Given the description of an element on the screen output the (x, y) to click on. 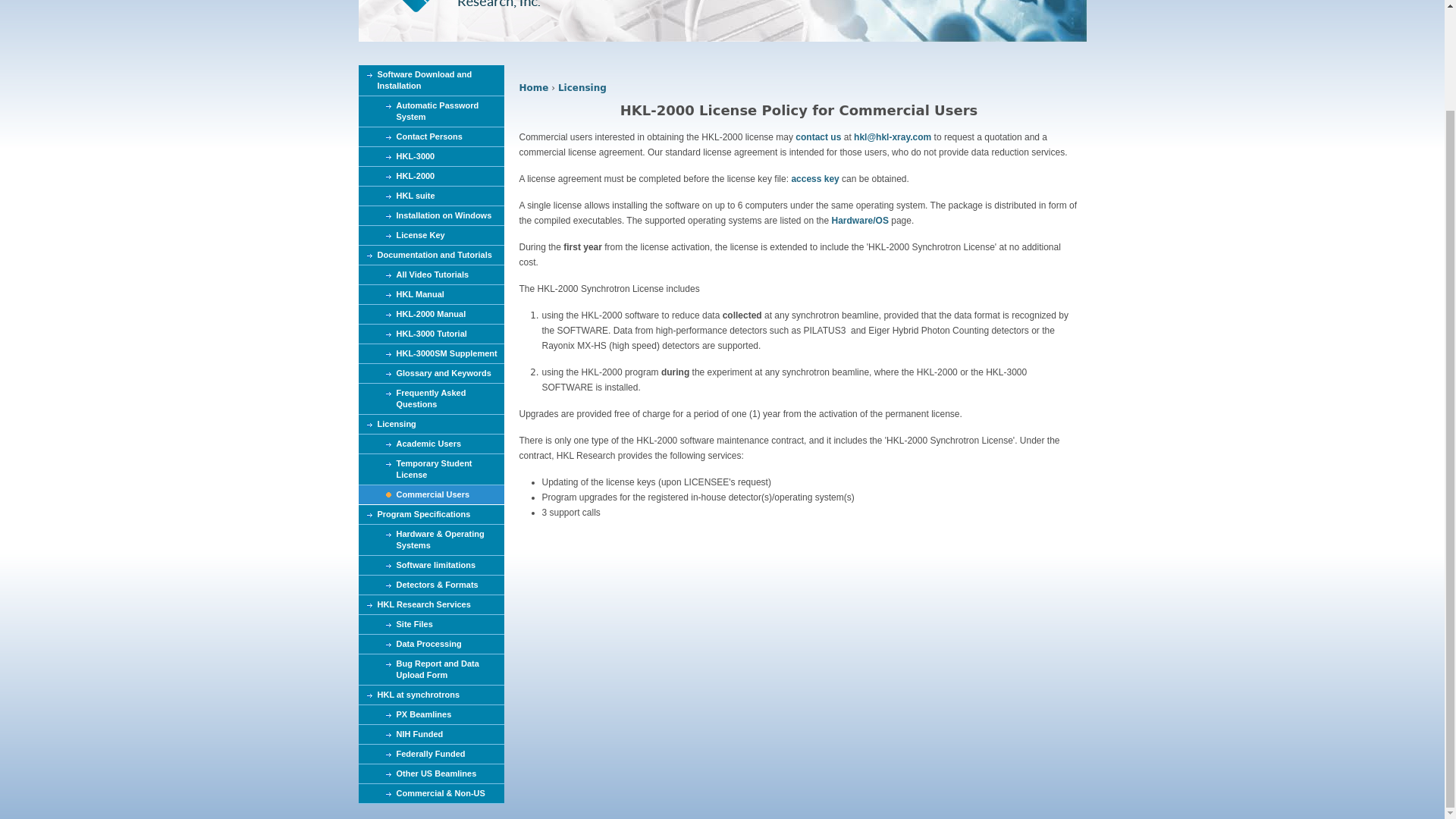
Temporary Student License (430, 469)
Home (533, 87)
Glossary and Keywords (430, 373)
Program Specifications (430, 514)
Glossary (430, 373)
HKL-3000 (430, 157)
Bug Report and Data Upload Form (430, 669)
Data Processing Service (430, 644)
Site Files (430, 624)
Availability for the NIH-funded  synchrotron beam lines (430, 734)
HKL Manual (430, 294)
Installation on Windows (430, 216)
Academic Users (430, 444)
Contact Persons (430, 137)
Software Download and Installation (430, 80)
